Given the description of an element on the screen output the (x, y) to click on. 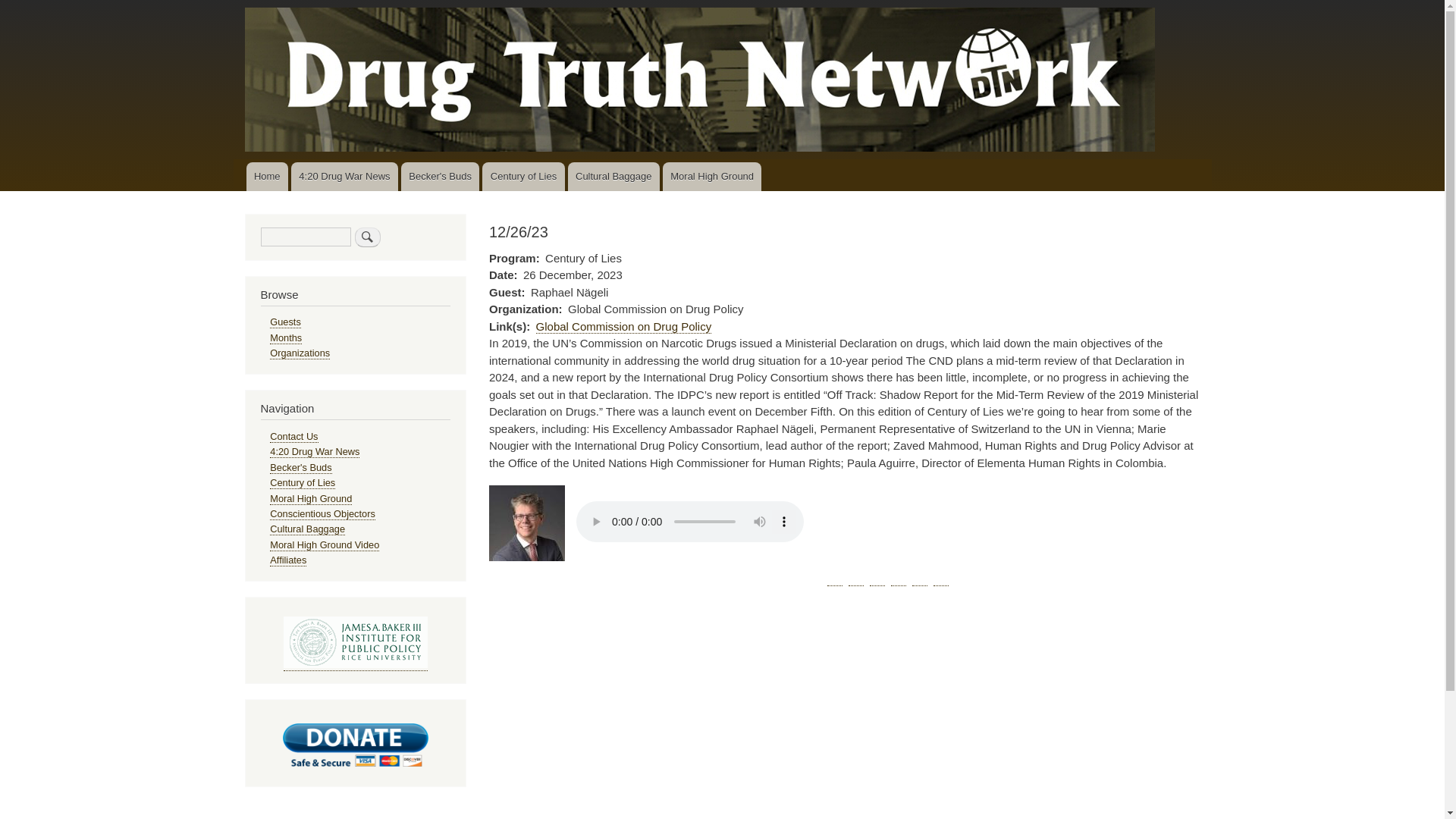
Months (285, 337)
Home (266, 176)
Century of Lies (301, 482)
Contact the Drug Truth Network (293, 436)
Organizations (299, 353)
Enter the terms you wish to search for. (305, 236)
Cultural Baggage (307, 529)
4:20 Drug War News (344, 176)
Share to Facebook (835, 578)
Search (367, 237)
Share to Reddit (898, 578)
Browse and search programs by guest (285, 322)
Share to Pinterest (877, 578)
Browse and search programs by guest organization (299, 353)
Becker's Buds Video Interviews (440, 176)
